Given the description of an element on the screen output the (x, y) to click on. 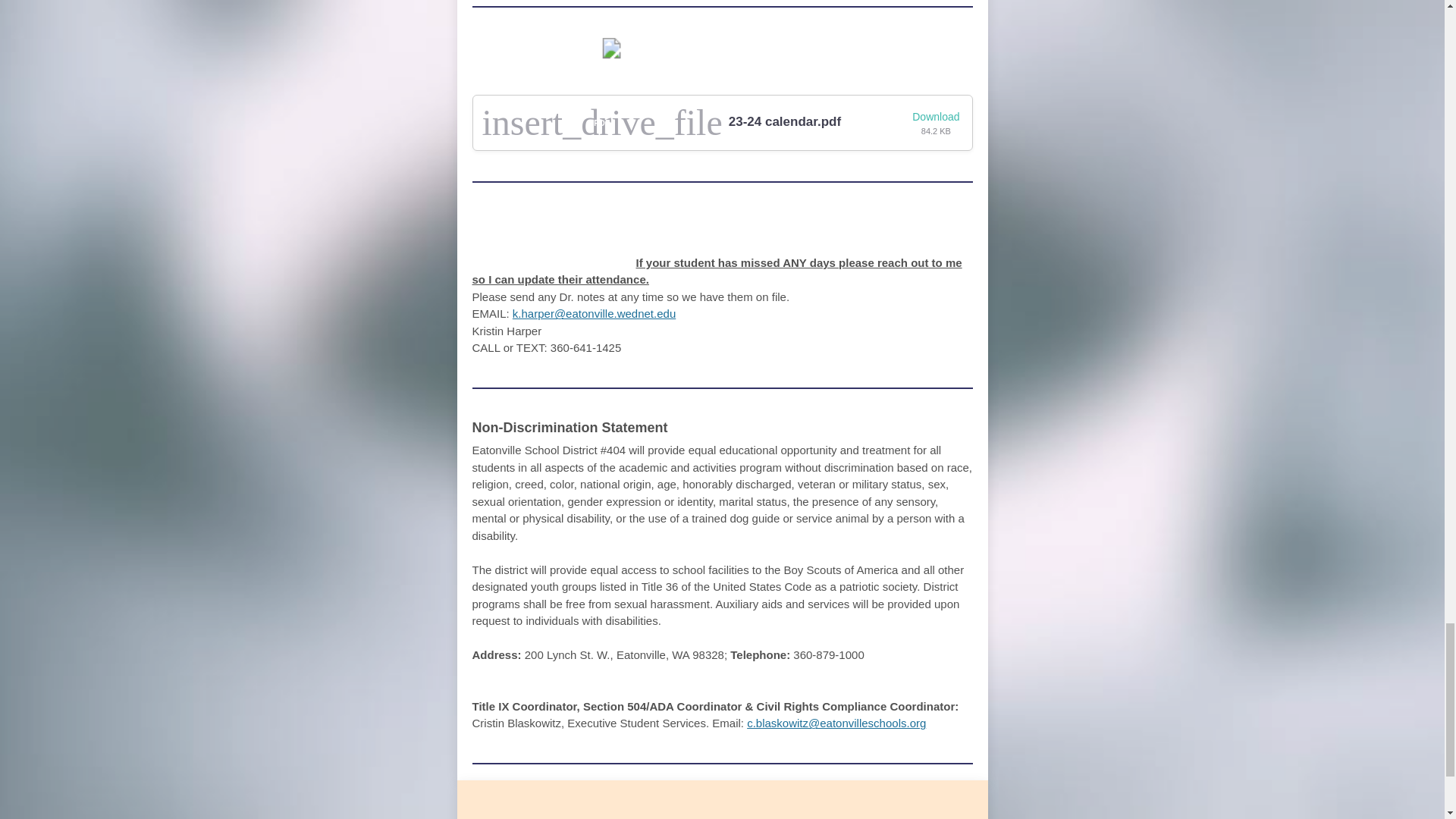
23-24 calendar.pdf (785, 121)
